Given the description of an element on the screen output the (x, y) to click on. 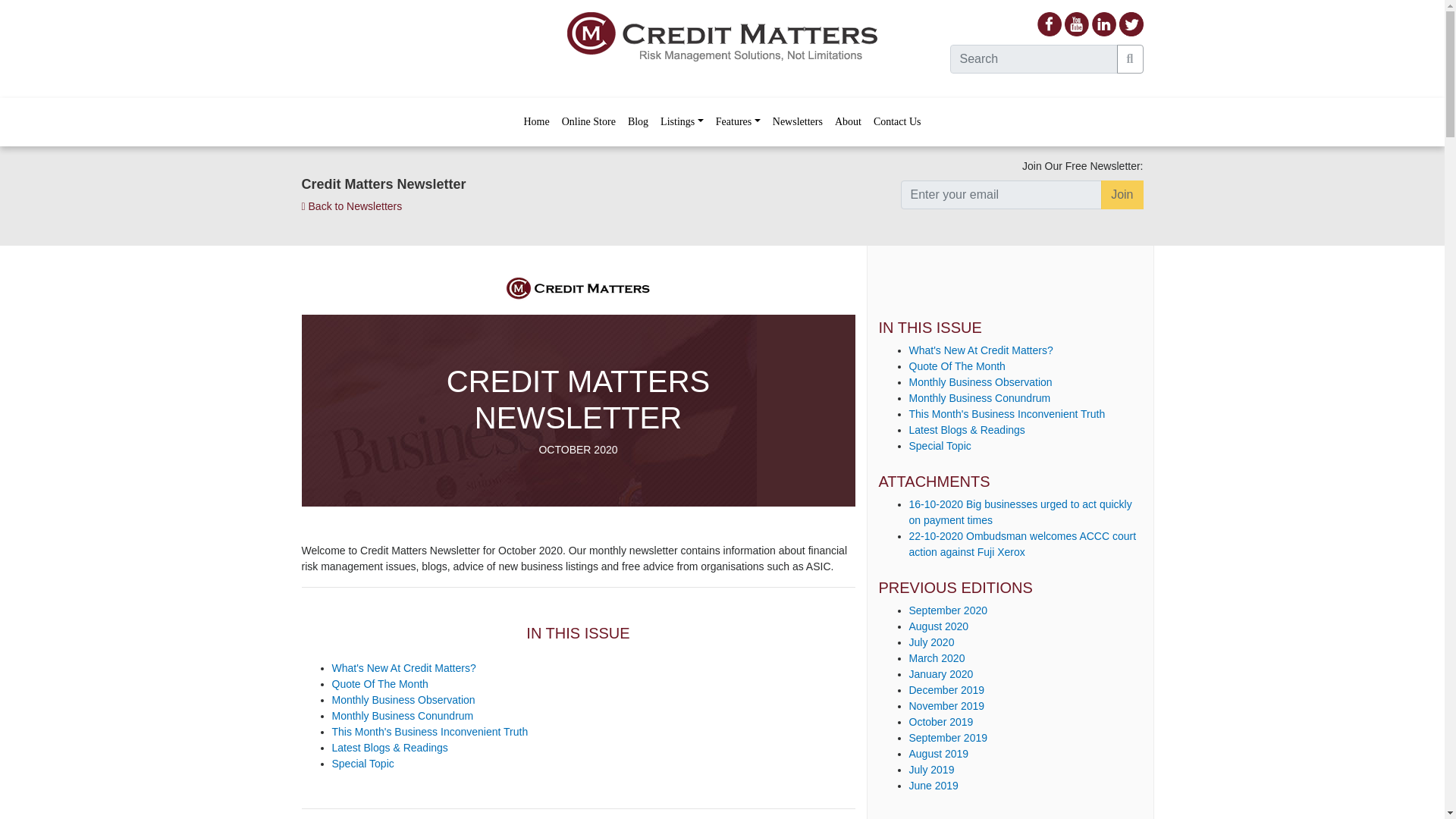
Monthly Business Observation (403, 698)
Quote Of The Month (379, 684)
Newsletters (797, 121)
Listings (681, 121)
Contact Us (897, 121)
Join (1121, 194)
Online Store (588, 121)
Features (738, 121)
 Back to Newsletters (352, 205)
What's New At Credit Matters? (403, 666)
